Given the description of an element on the screen output the (x, y) to click on. 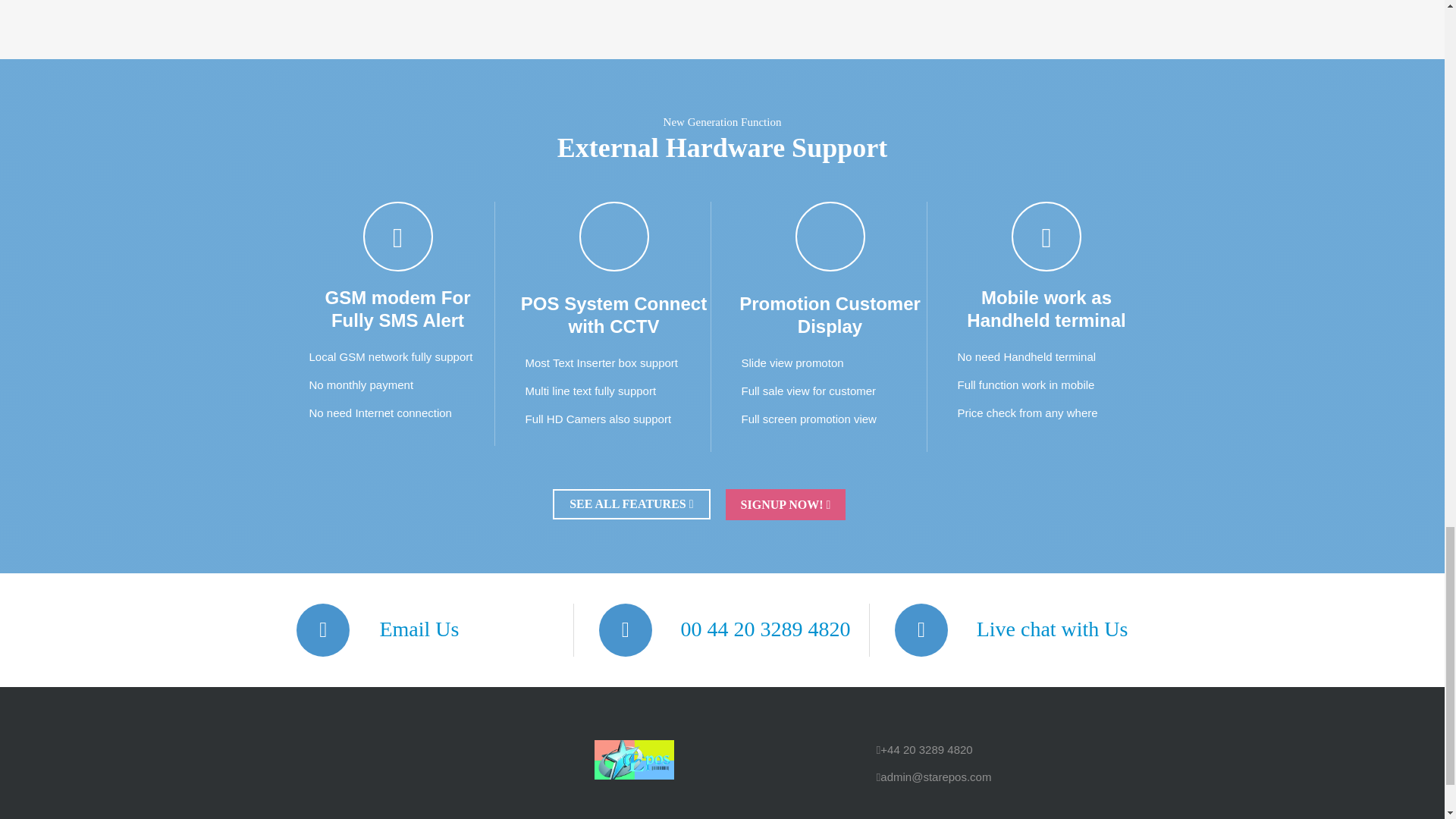
Email Us (426, 629)
00 44 20 3289 4820 (771, 629)
SEE ALL FEATURES (631, 503)
SIGNUP NOW! (785, 504)
Live chat with Us (1059, 629)
